Given the description of an element on the screen output the (x, y) to click on. 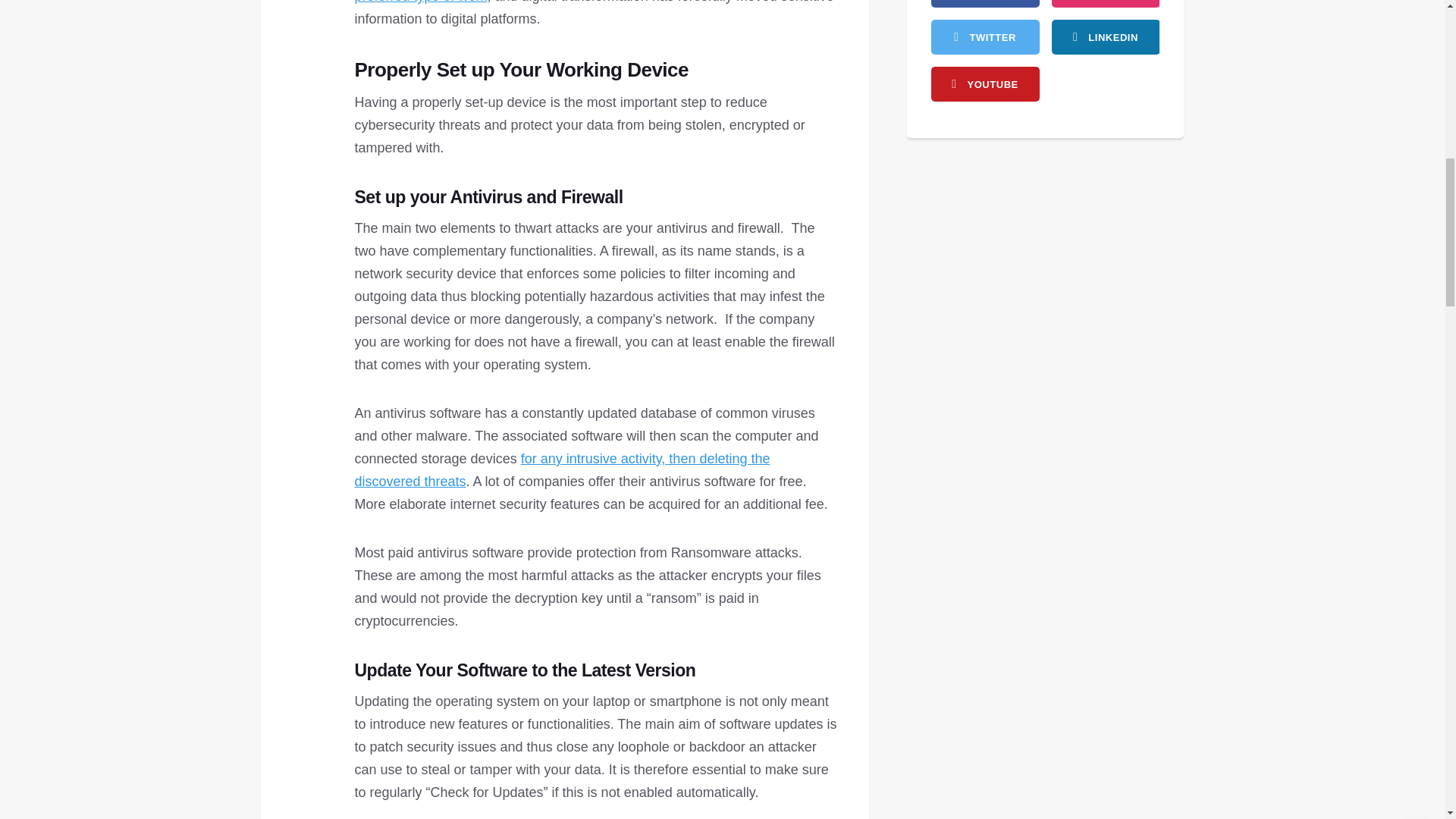
twitter (985, 36)
youtube (985, 83)
rss (1104, 36)
facebook (985, 3)
instagram (1104, 3)
